Given the description of an element on the screen output the (x, y) to click on. 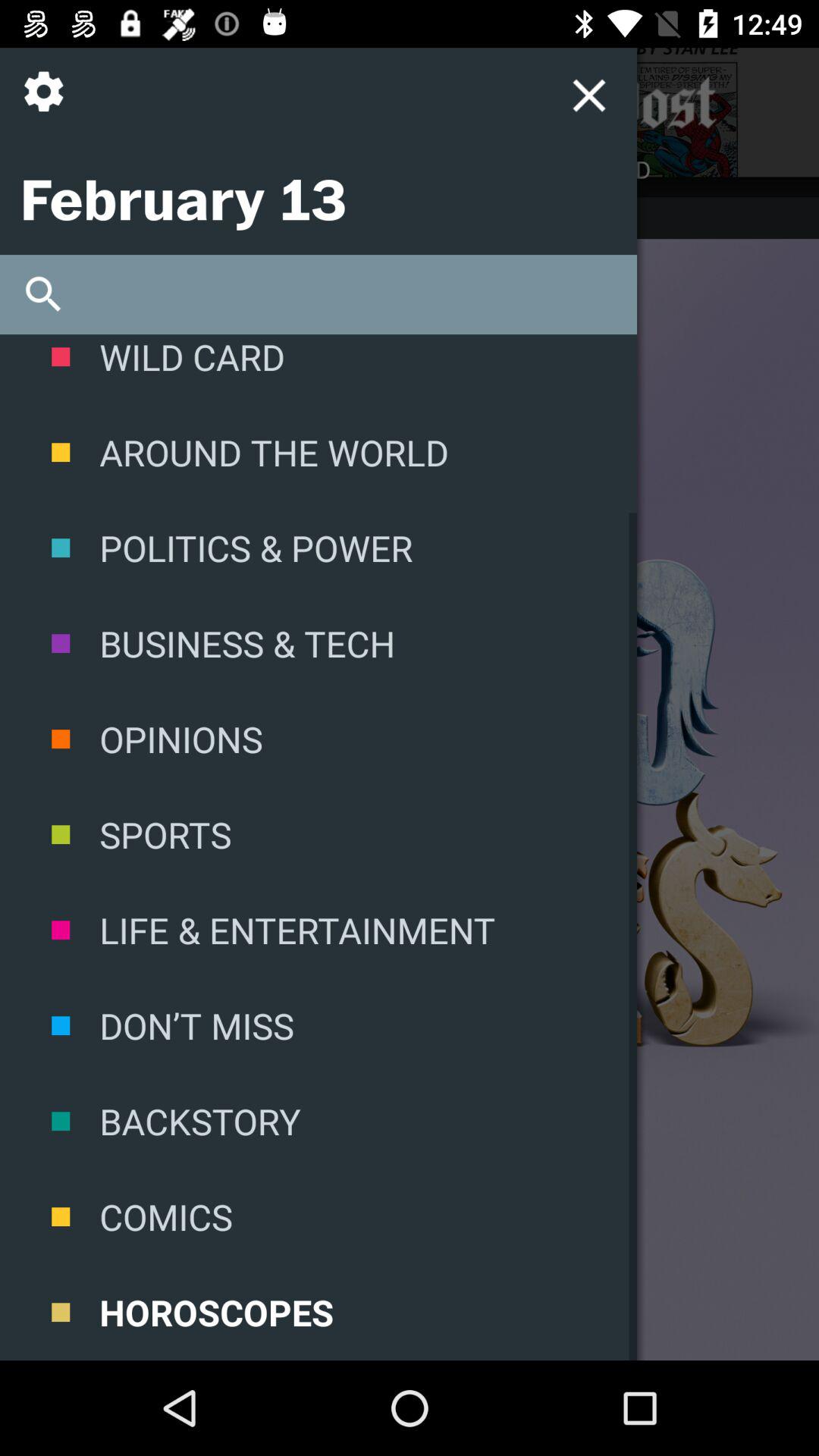
jump to the horoscopes icon (318, 1312)
